Given the description of an element on the screen output the (x, y) to click on. 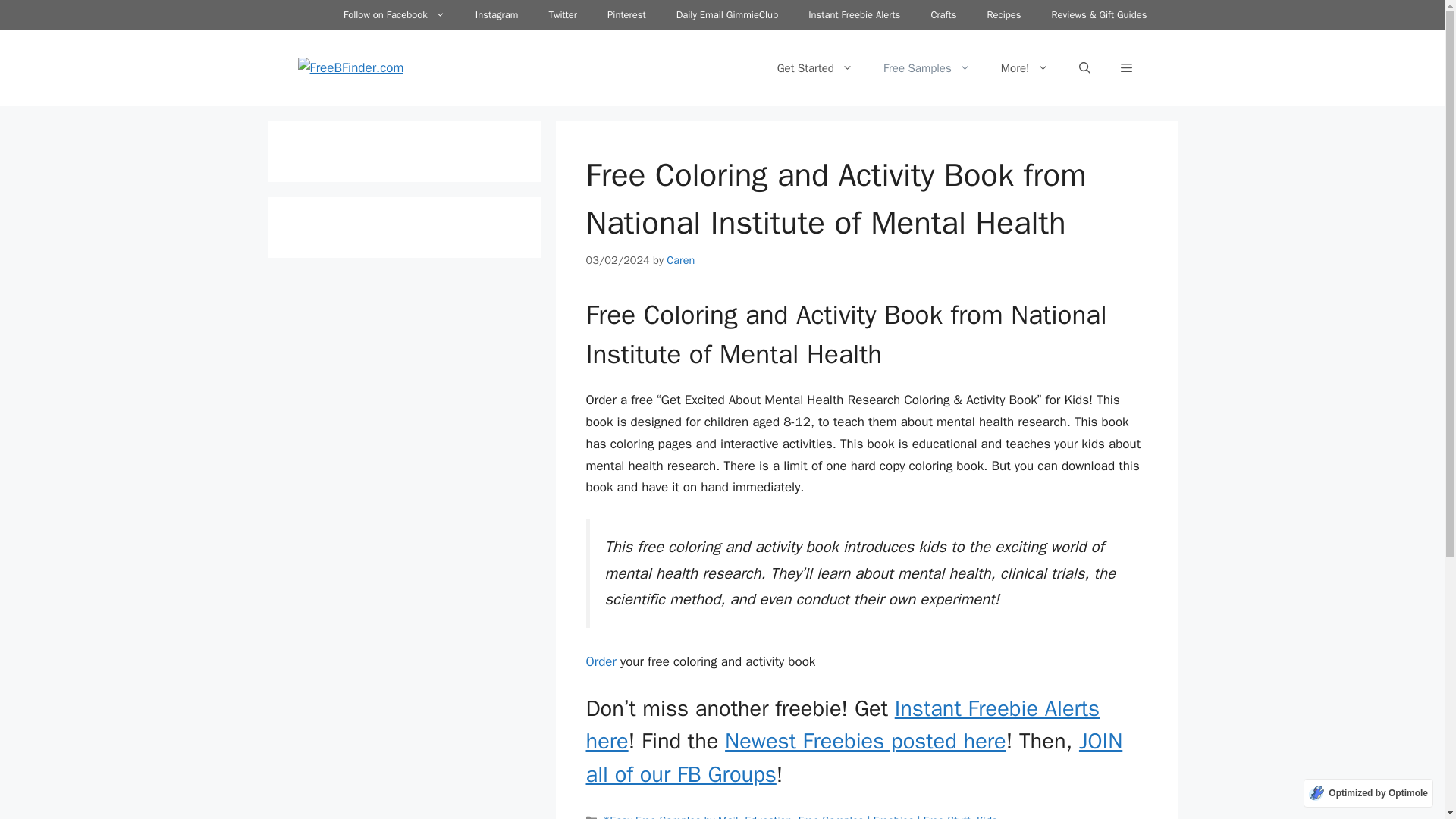
Daily Email GimmieClub (727, 15)
Crafts (943, 15)
Instant Freebie Alerts here (842, 731)
Caren (680, 265)
More! (1024, 71)
Free Samples (926, 71)
Recipes (1003, 15)
Instagram (497, 15)
Twitter (562, 15)
Instant Freebie Alerts (854, 15)
Order (600, 667)
Get Started (814, 71)
View all posts by Caren (680, 265)
Follow on Facebook (394, 15)
Pinterest (626, 15)
